Given the description of an element on the screen output the (x, y) to click on. 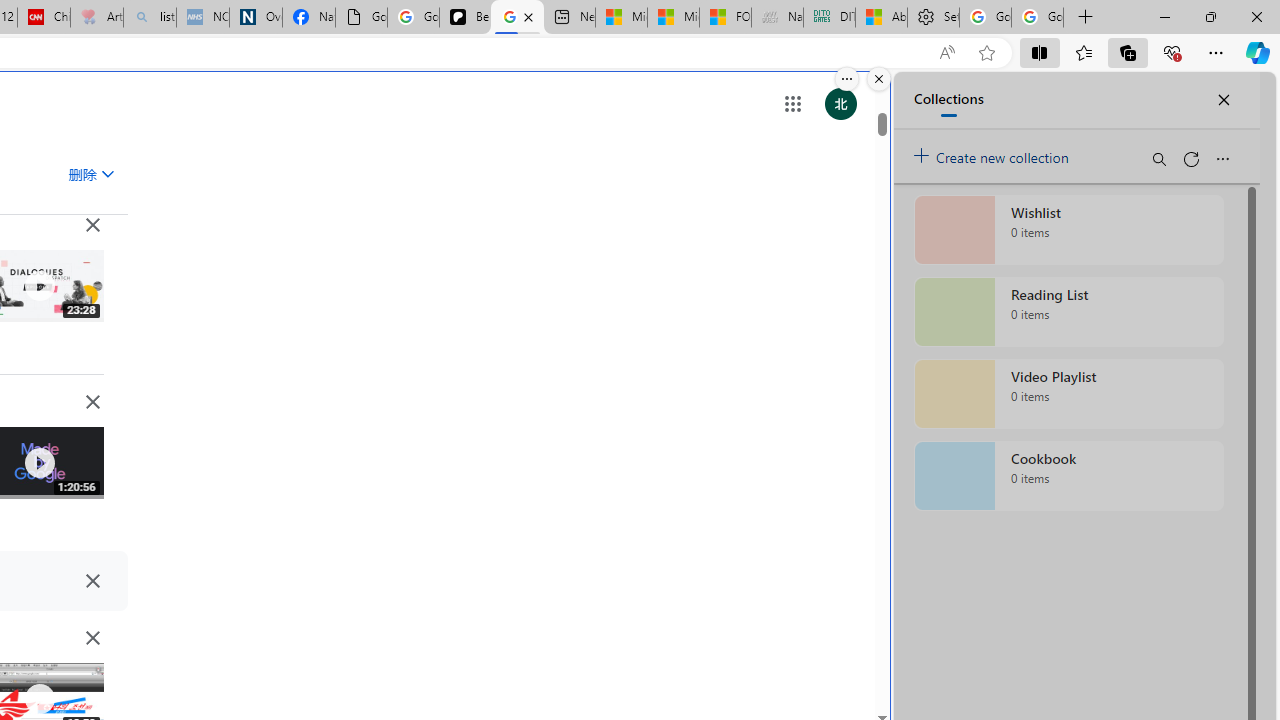
Class: TjcpUd NMm5M (91, 637)
Close split screen. (878, 79)
Class: gb_E (792, 103)
